Given the description of an element on the screen output the (x, y) to click on. 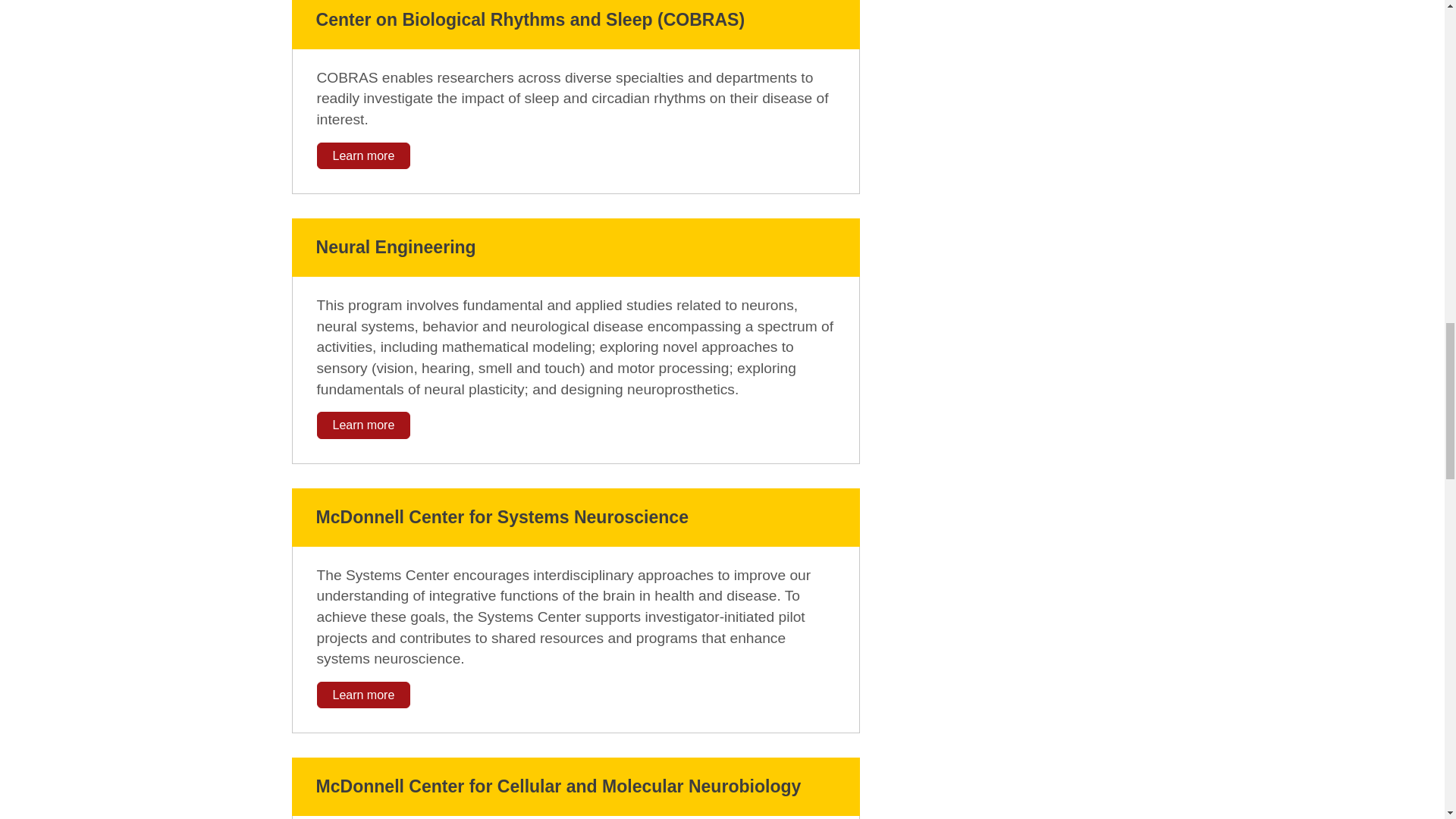
Learn more (363, 695)
Learn more (363, 424)
Learn more (363, 155)
